Given the description of an element on the screen output the (x, y) to click on. 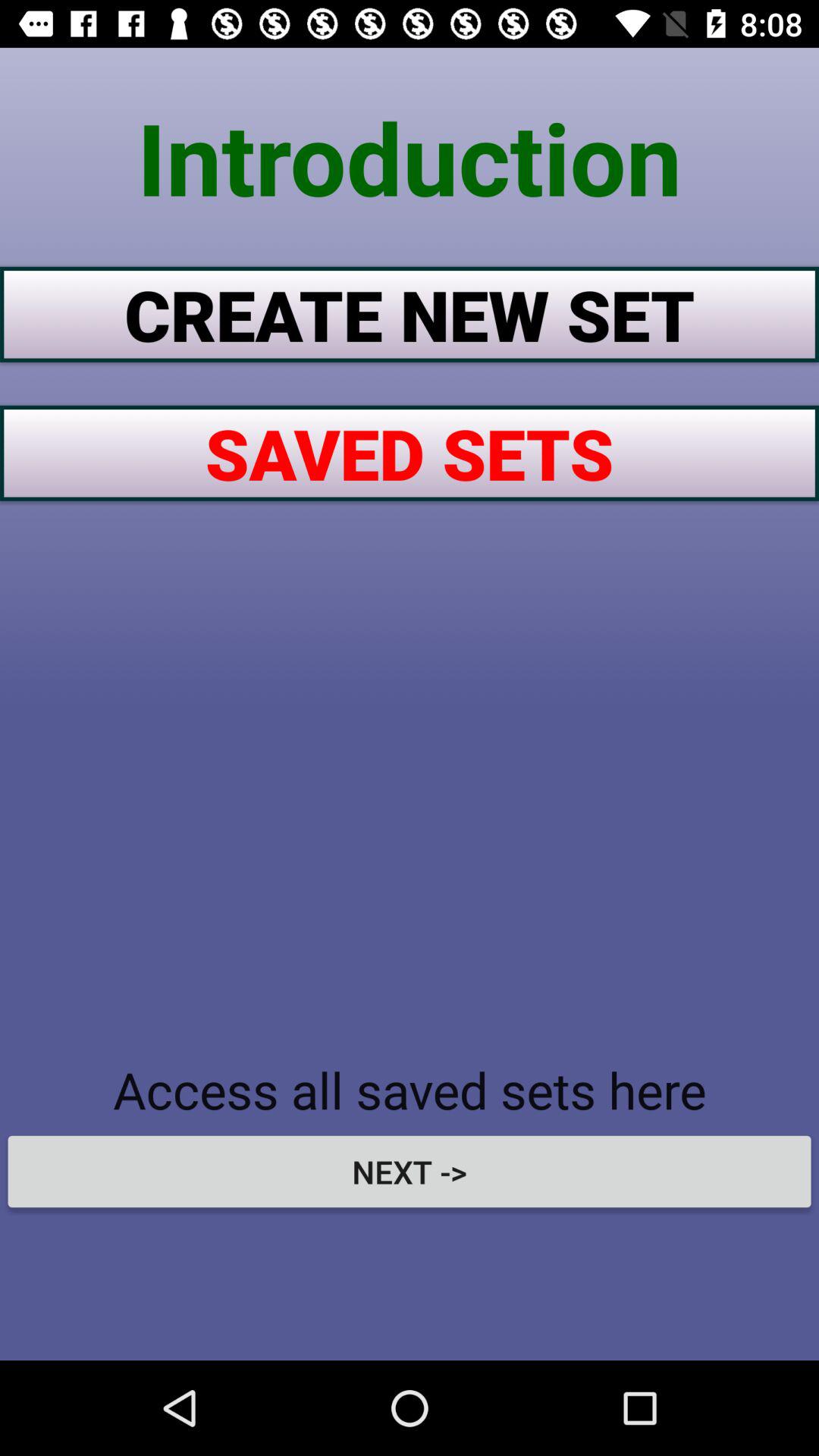
flip to the next -> item (409, 1171)
